Given the description of an element on the screen output the (x, y) to click on. 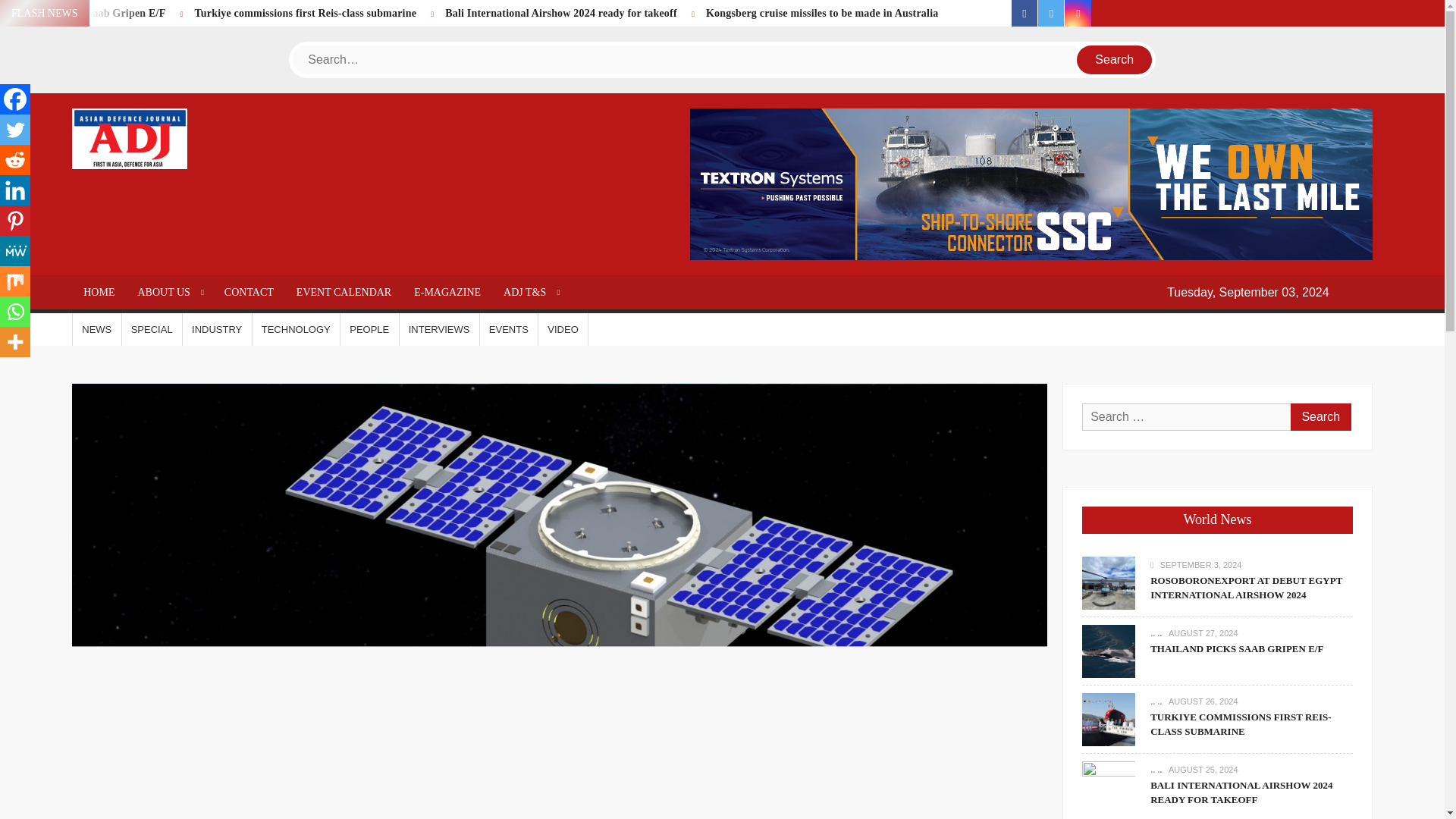
ASIAN DEFENCE JOURNAL (272, 189)
Turkiye commissions first Reis-class submarine (304, 12)
facebook (1024, 13)
Kongsberg cruise missiles to be made in Australia (822, 12)
Kongsberg cruise missiles to be made in Australia (822, 12)
Search (1320, 416)
twitter (1051, 13)
Bali International Airshow 2024 ready for takeoff (561, 12)
instagram (1077, 13)
